Given the description of an element on the screen output the (x, y) to click on. 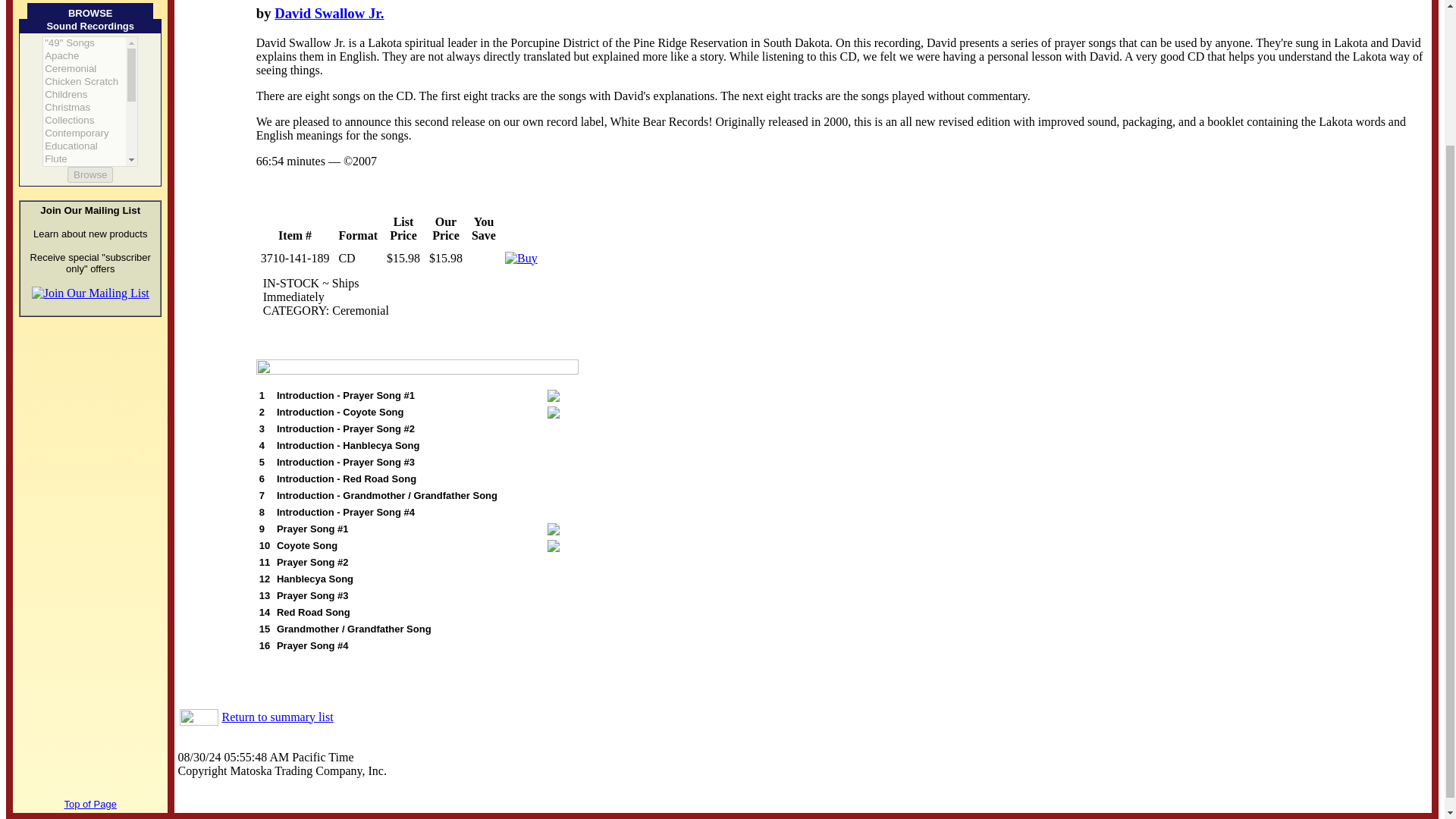
Top of Page (90, 803)
David Swallow Jr. (329, 12)
Browse (89, 174)
Browse (89, 174)
Return to summary list (277, 716)
